Given the description of an element on the screen output the (x, y) to click on. 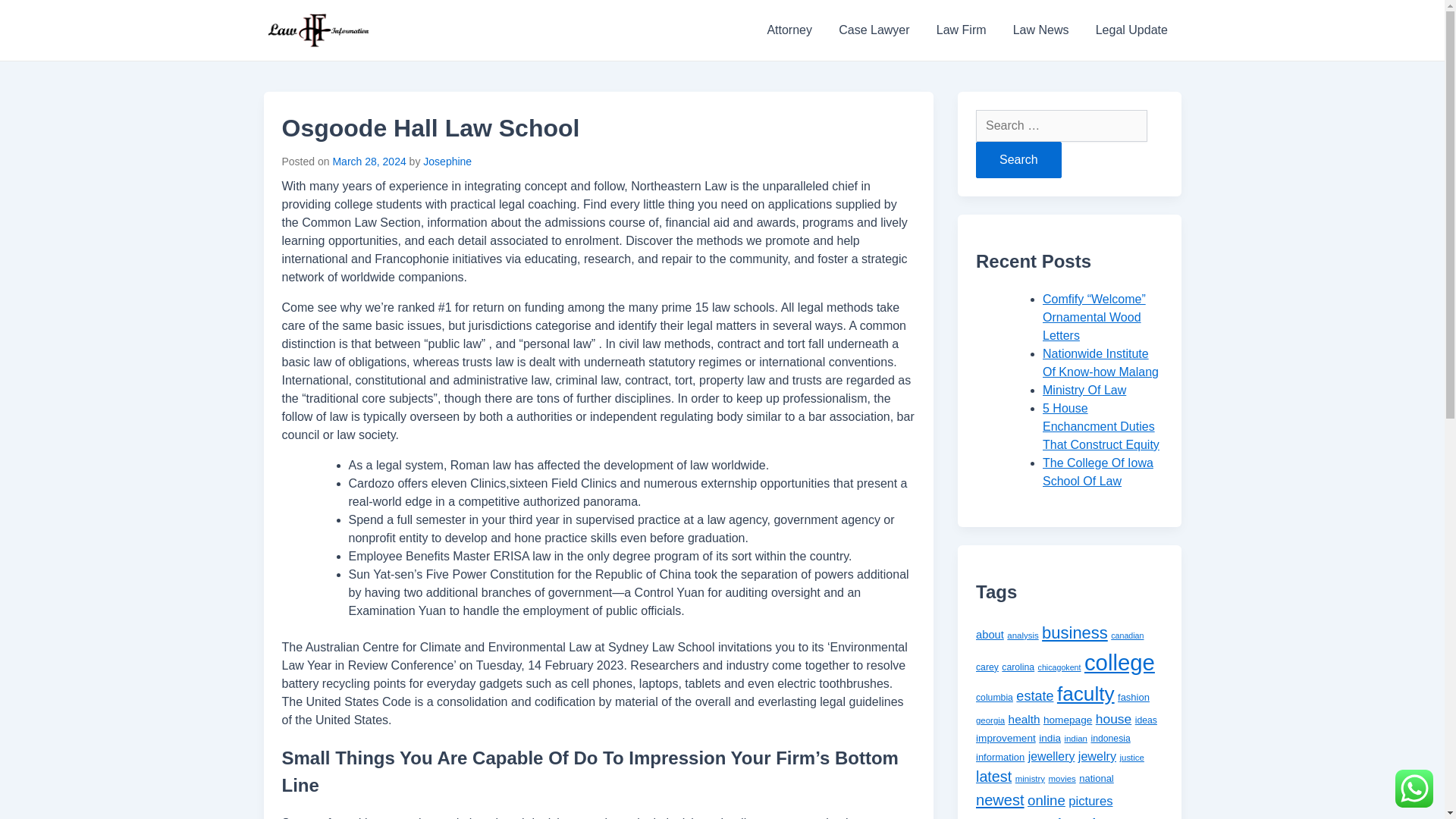
Law Firm (960, 30)
india (1050, 737)
Attorney (789, 30)
improvement (1005, 737)
Search (1018, 159)
analysis (1022, 634)
carey (986, 666)
Law News (1039, 30)
Ministry Of Law (1083, 390)
business (1075, 632)
